Given the description of an element on the screen output the (x, y) to click on. 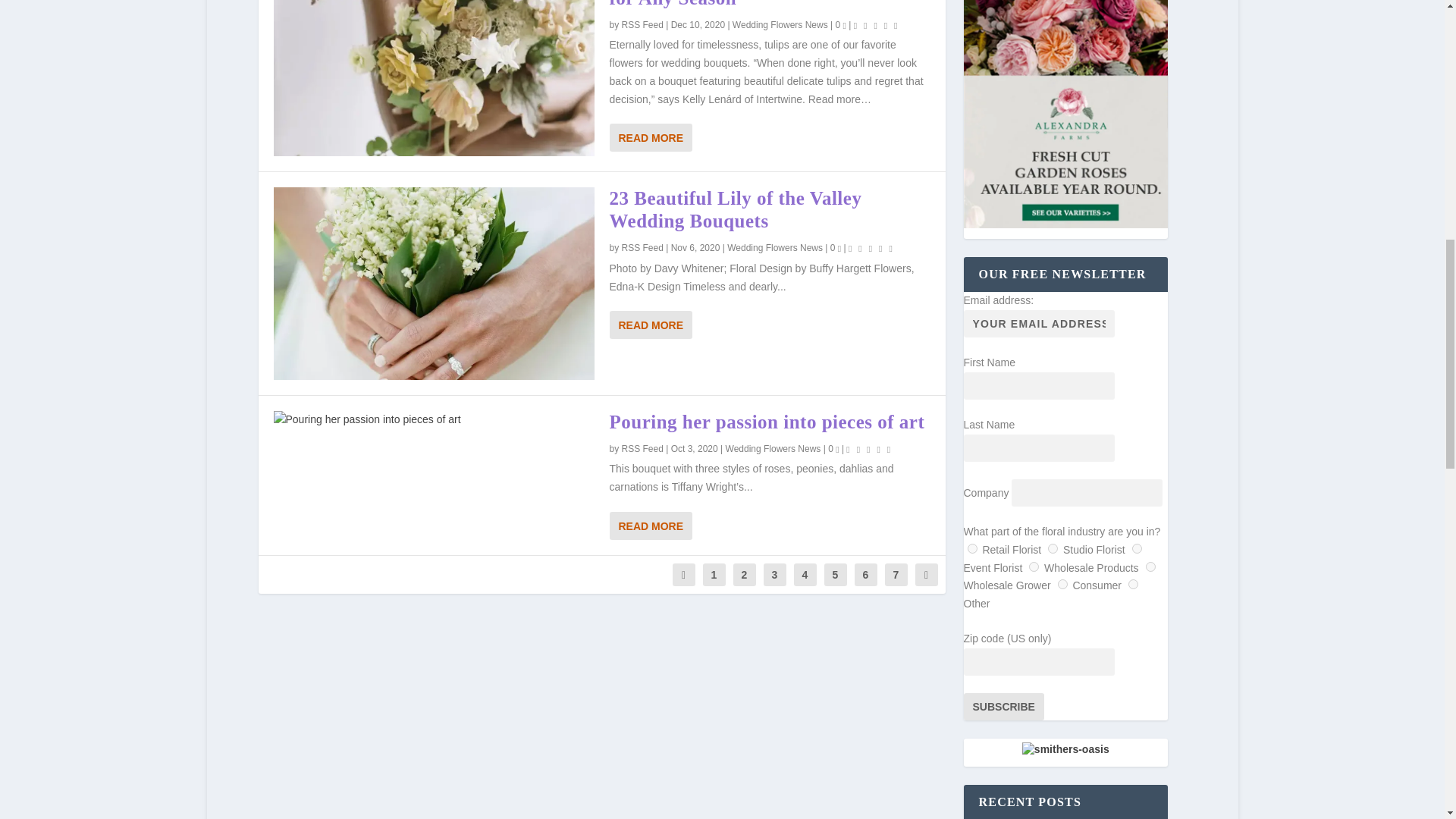
Retail Florist (972, 548)
